Given the description of an element on the screen output the (x, y) to click on. 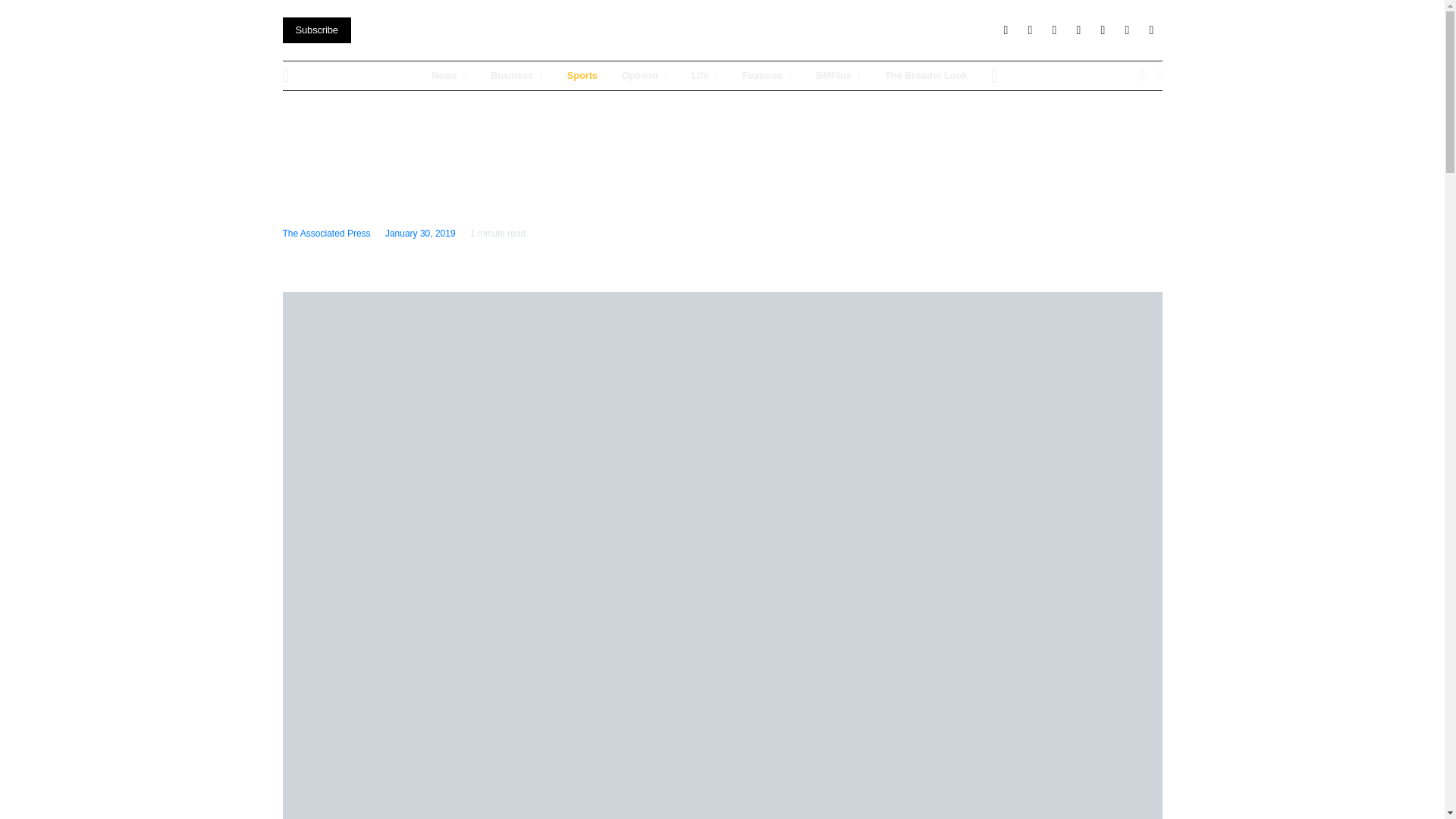
View all posts by The Associated Press (325, 233)
